Given the description of an element on the screen output the (x, y) to click on. 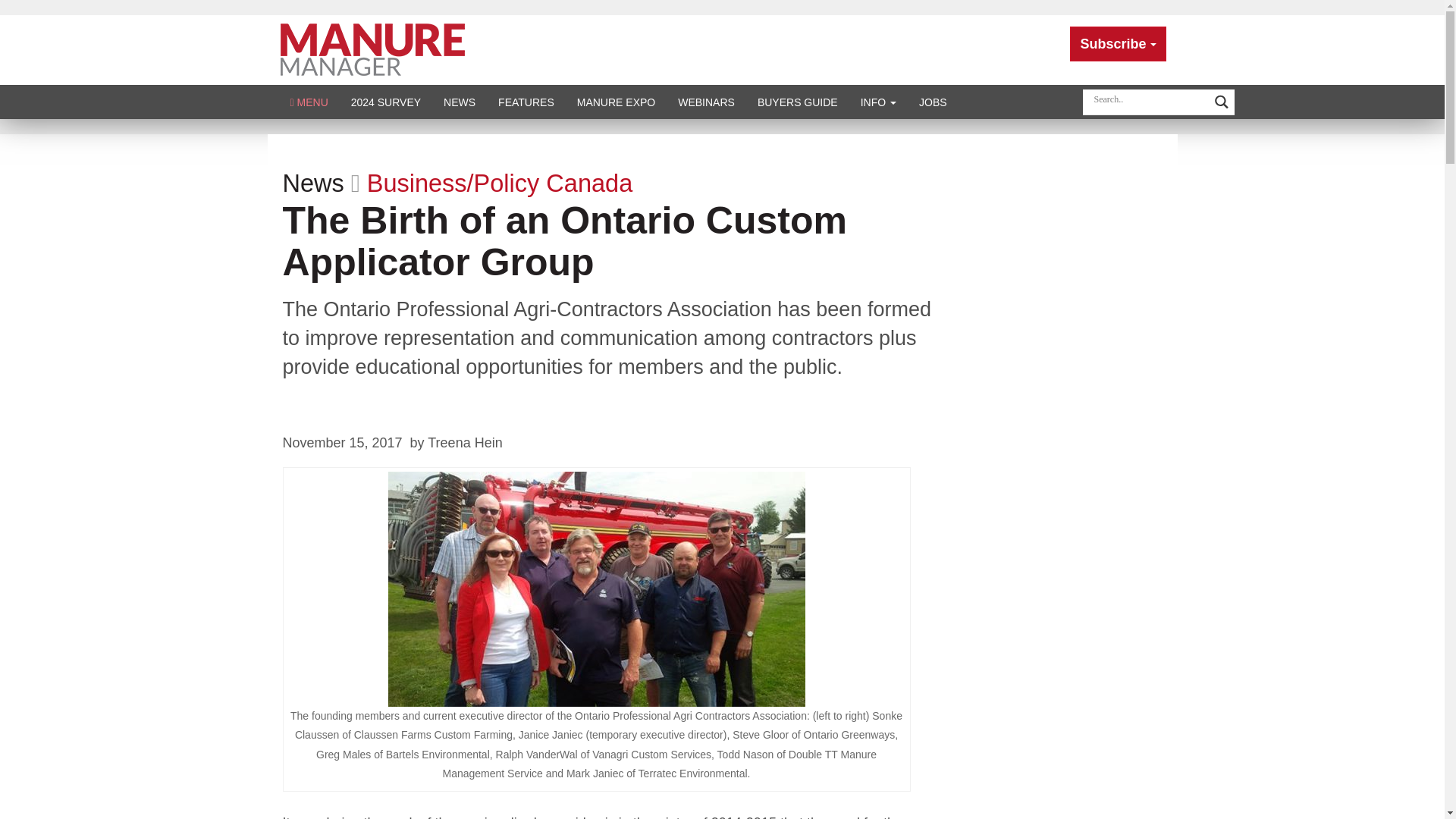
Manure Manager (372, 48)
2024 SURVEY (385, 101)
NEWS (459, 101)
BUYERS GUIDE (796, 101)
MANURE EXPO (616, 101)
MENU (309, 101)
FEATURES (526, 101)
Subscribe (1118, 43)
JOBS (932, 101)
WEBINARS (705, 101)
Click to show site navigation (309, 101)
INFO (877, 101)
